Given the description of an element on the screen output the (x, y) to click on. 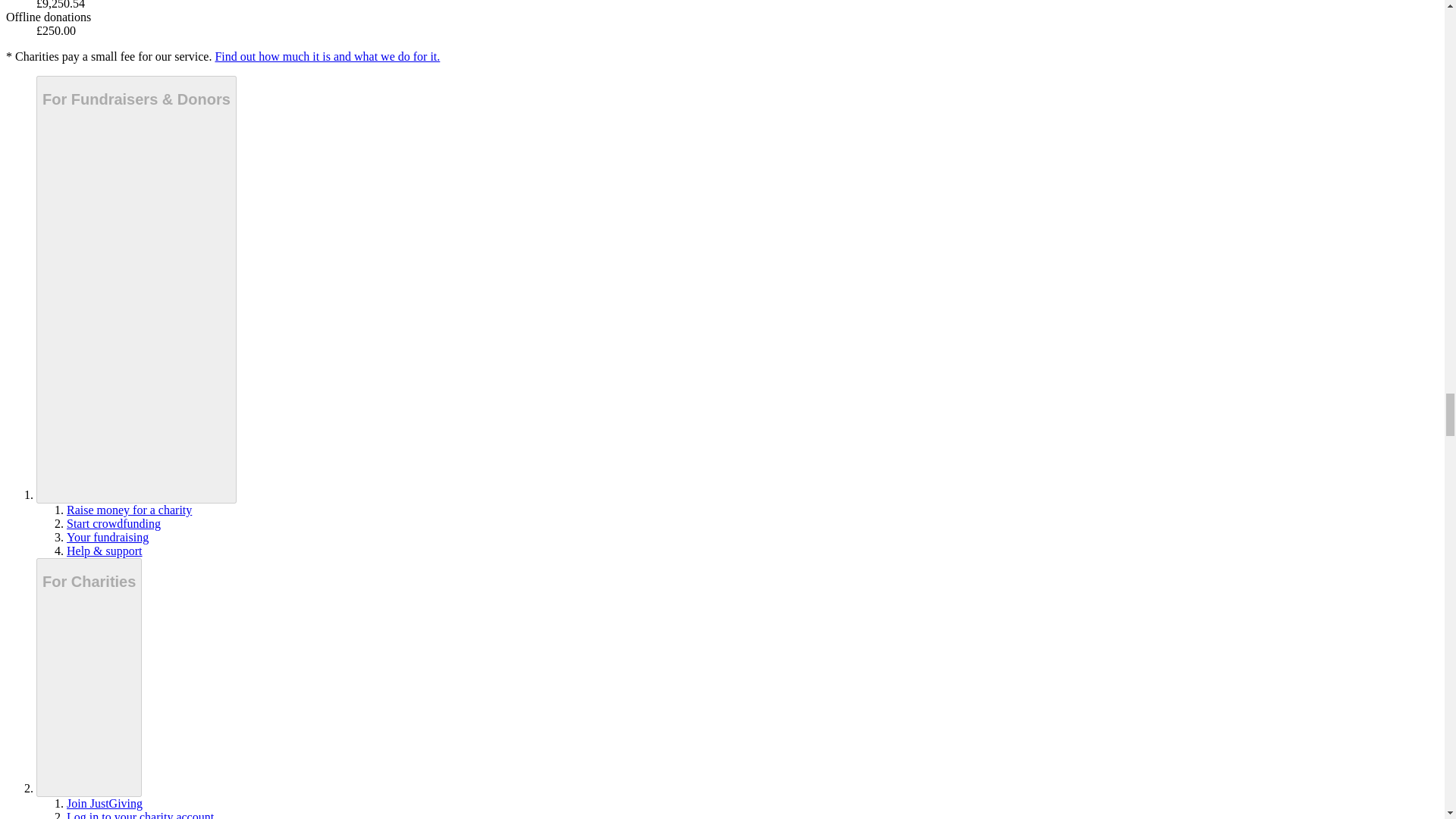
Raise money for a charity (129, 509)
Your fundraising (107, 536)
Join JustGiving (104, 802)
Find out how much it is and what we do for it. (326, 56)
Start crowdfunding (113, 522)
For Charities (88, 676)
Log in to your charity account (140, 814)
